Given the description of an element on the screen output the (x, y) to click on. 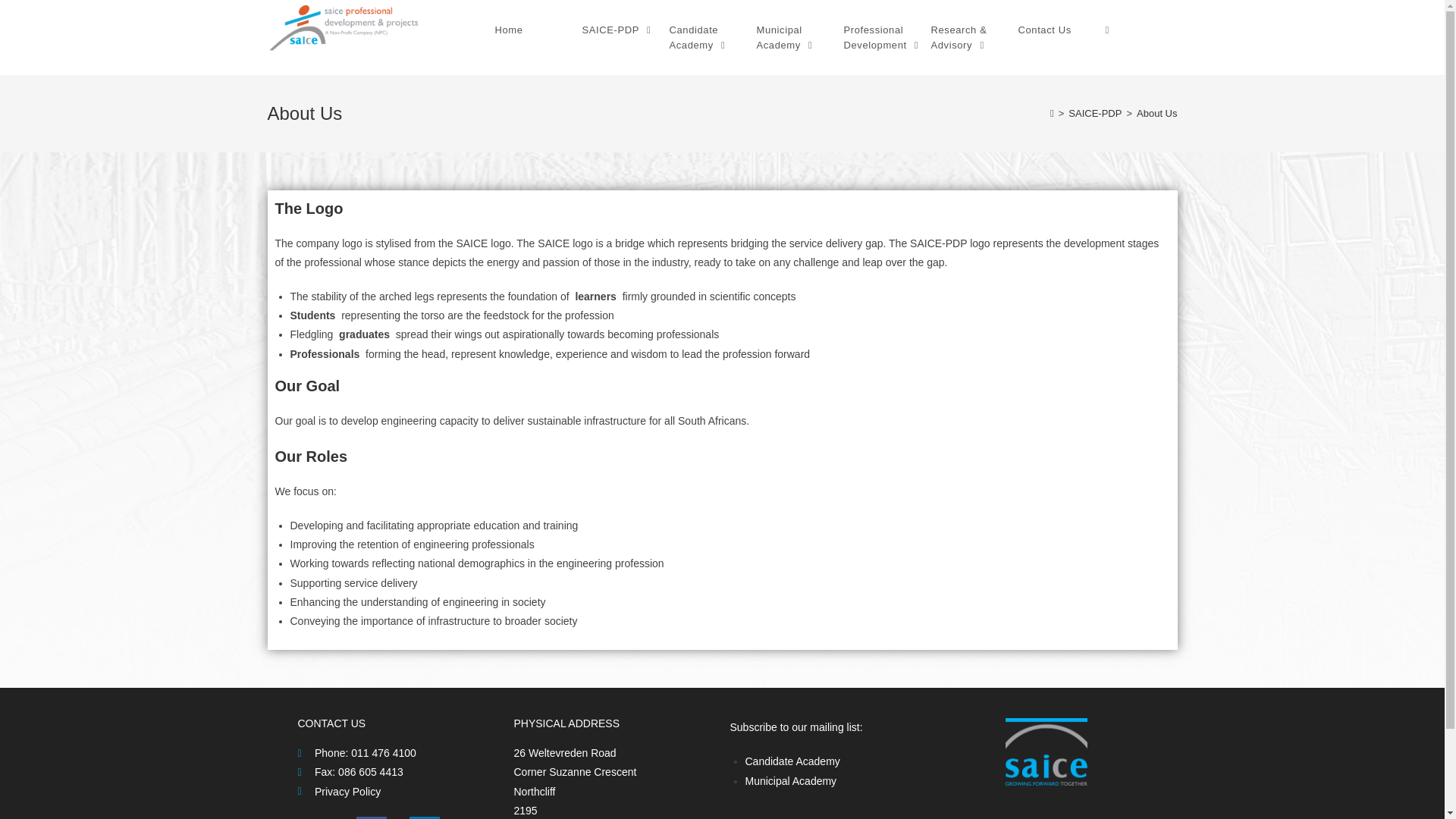
Contact Us (1058, 30)
Candidate Academy (708, 37)
SAICE-PDP (621, 30)
Municipal Academy (796, 37)
Professional Development (883, 37)
Home (535, 30)
